Given the description of an element on the screen output the (x, y) to click on. 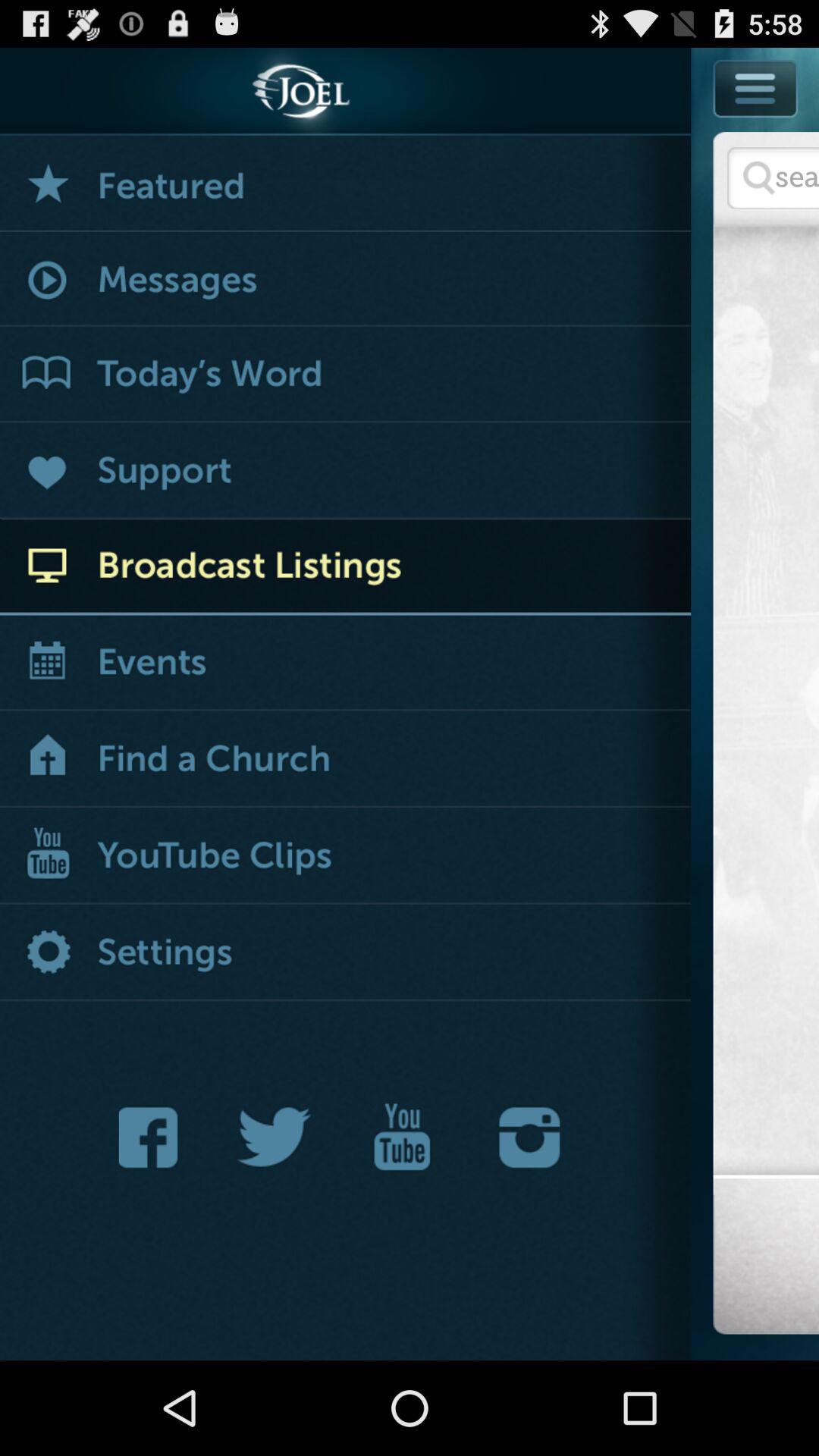
open twitter (274, 1137)
